Given the description of an element on the screen output the (x, y) to click on. 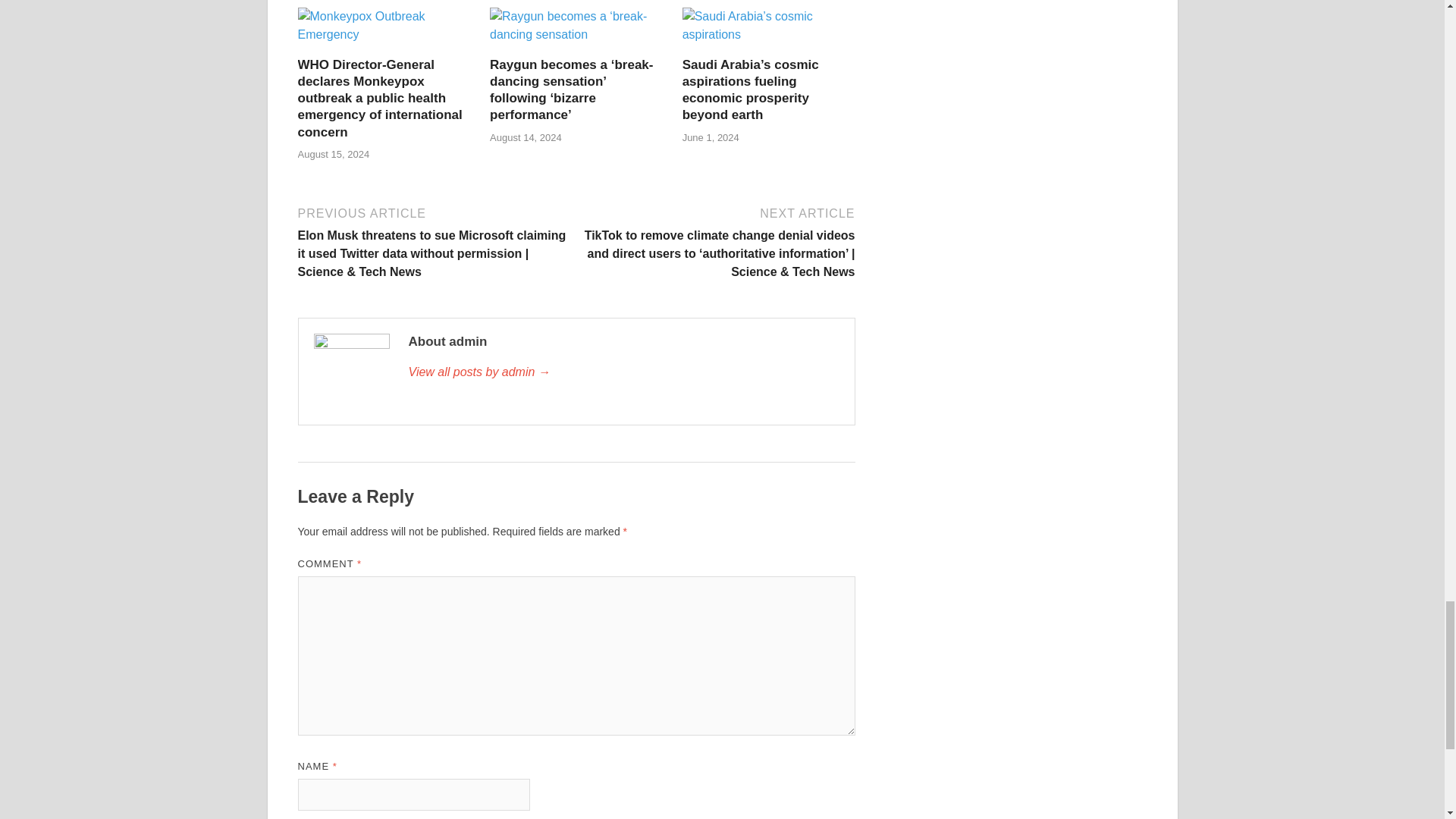
admin (622, 372)
